Given the description of an element on the screen output the (x, y) to click on. 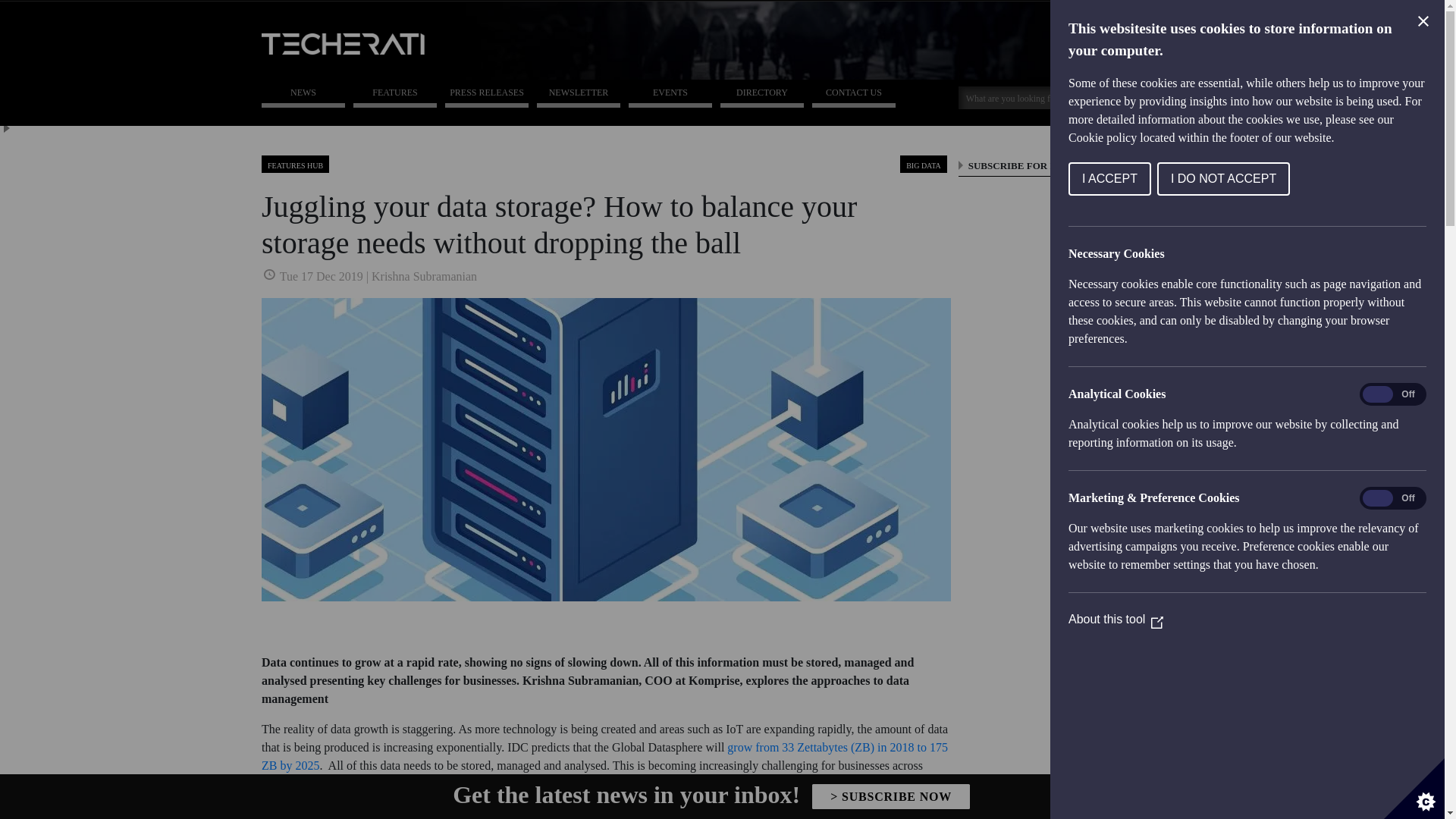
Form 1 (1069, 505)
Search (1033, 97)
Search (1144, 96)
Search (1144, 96)
